Given the description of an element on the screen output the (x, y) to click on. 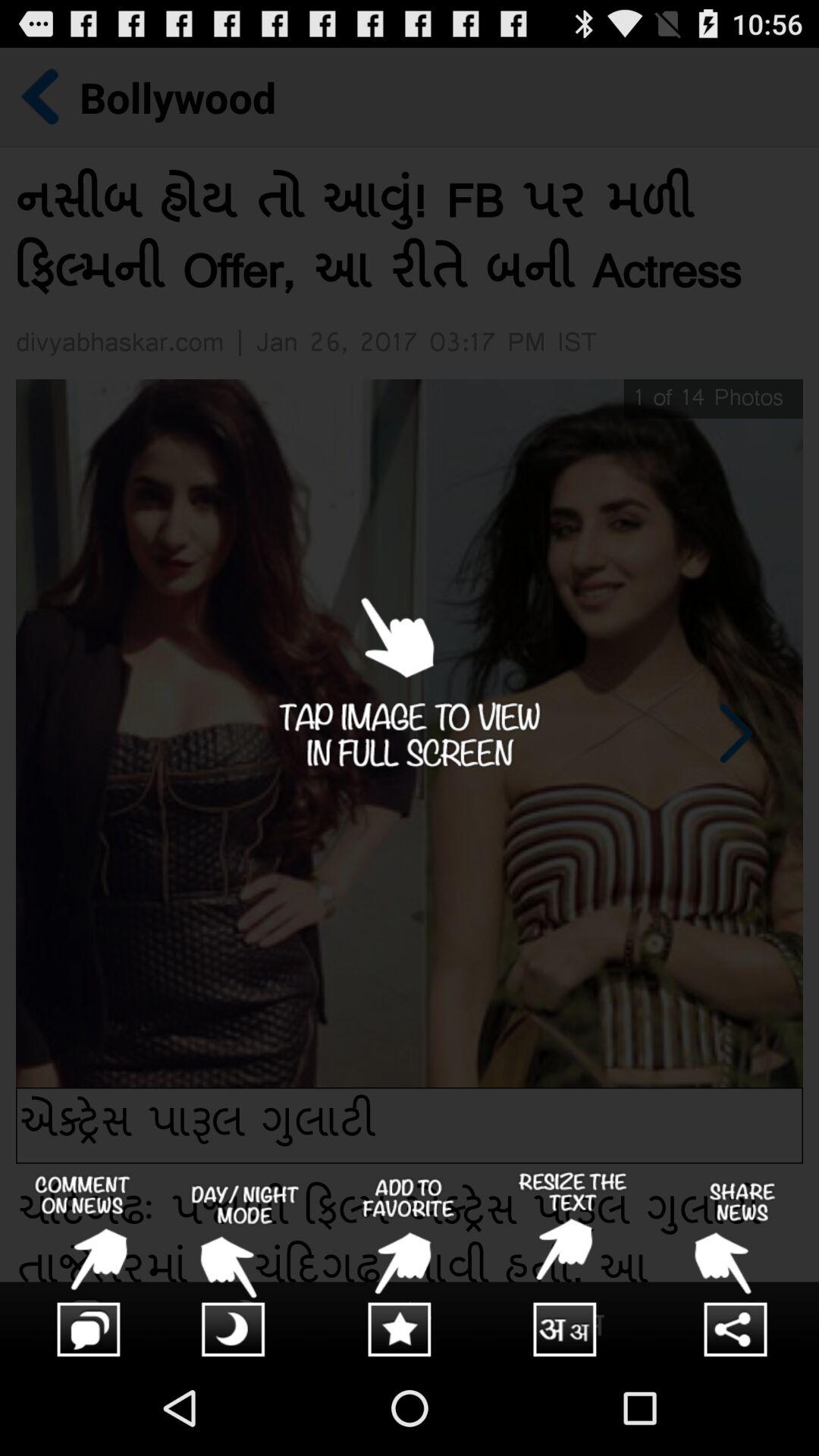
full screen option (409, 703)
